Given the description of an element on the screen output the (x, y) to click on. 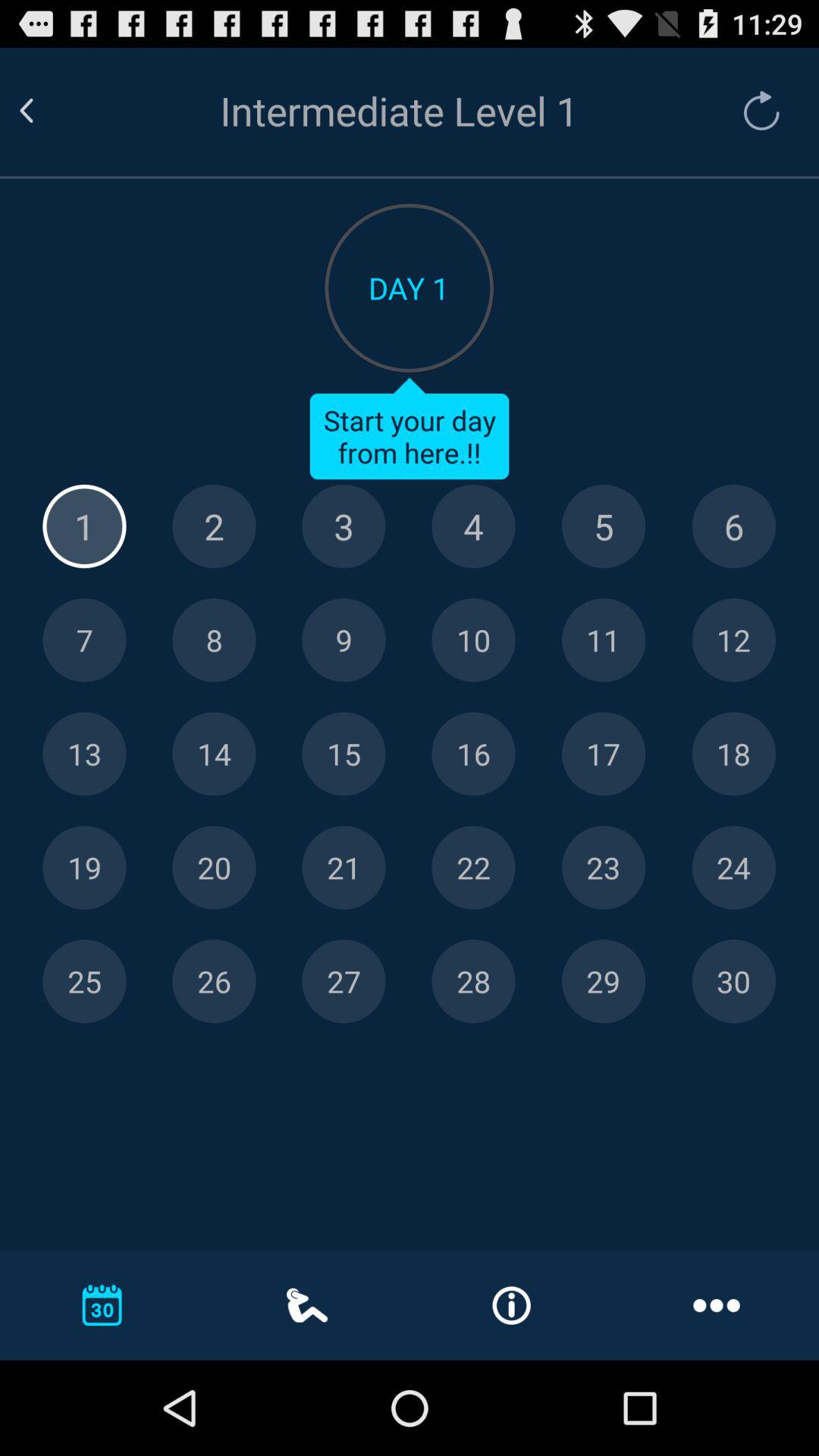
keyboard no9 (343, 639)
